Given the description of an element on the screen output the (x, y) to click on. 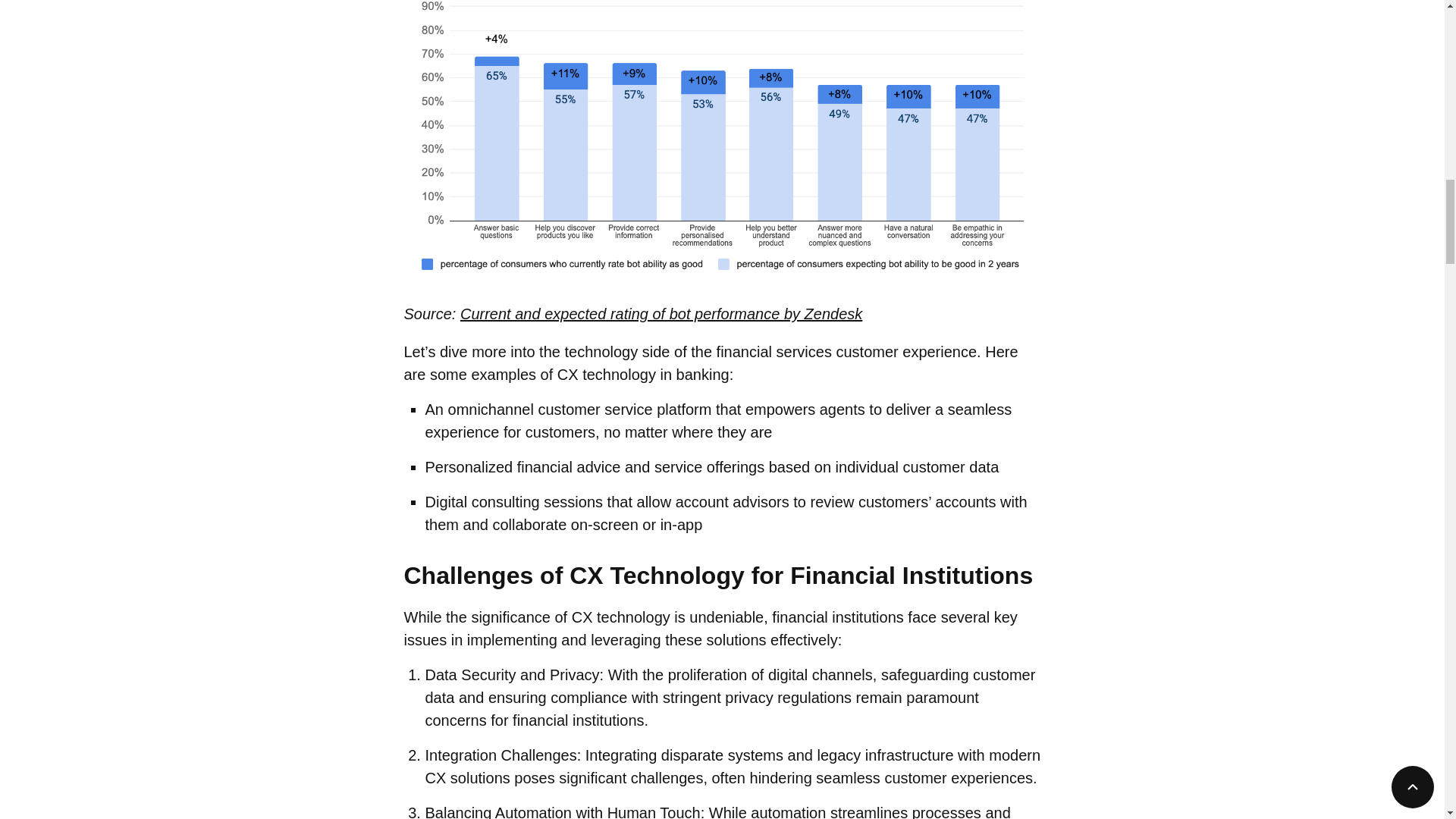
Current and expected rating of bot performance by Zendesk (660, 313)
